Given the description of an element on the screen output the (x, y) to click on. 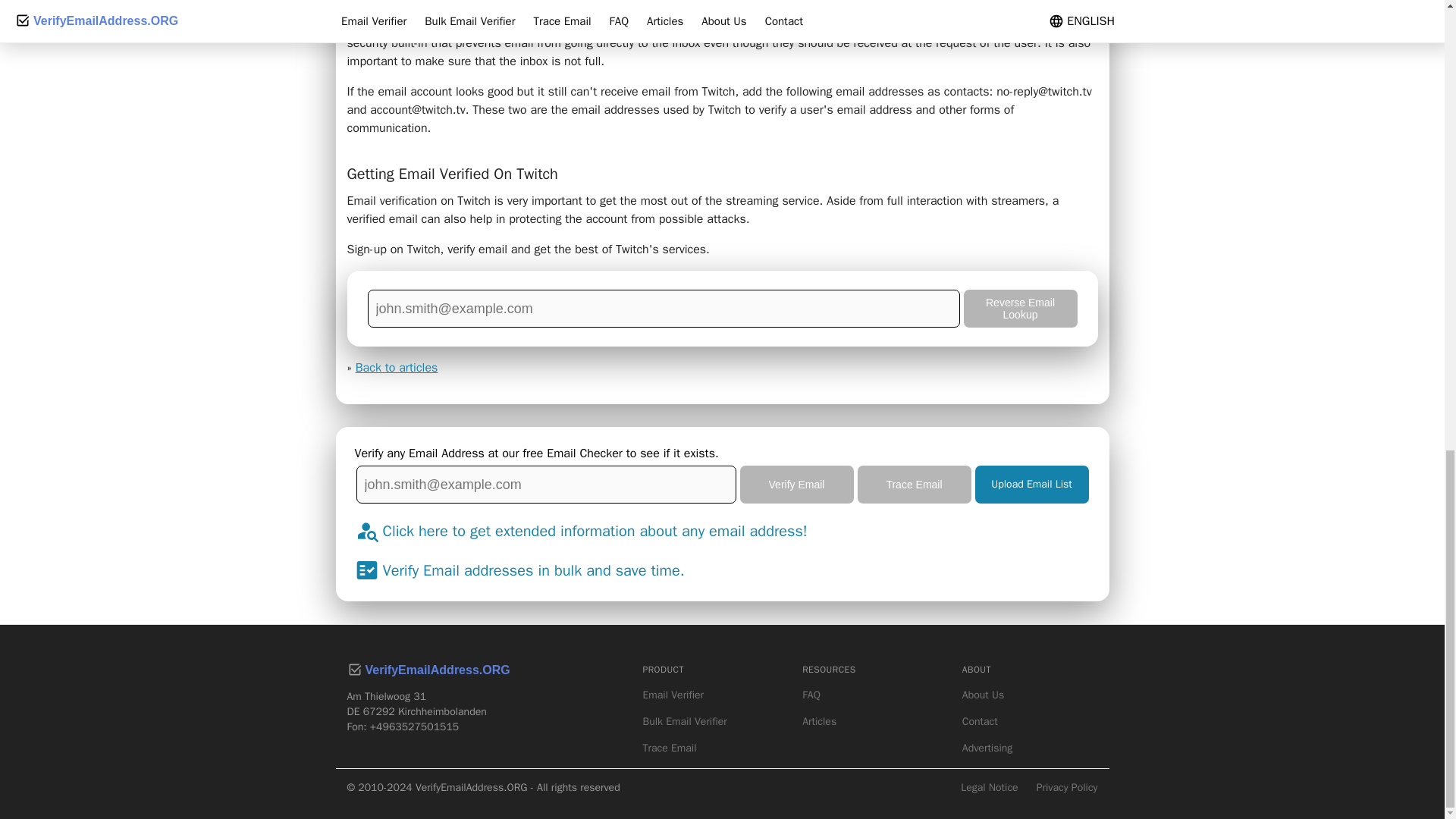
Back to articles (396, 367)
Reverse Email Lookup (1019, 308)
Legal Notice (988, 787)
VerifyEmailAddress.ORG (429, 670)
About Us (1029, 694)
Upload Email List (1032, 484)
Email Verifier (710, 694)
Bulk Email Verifier (710, 721)
Advertising (1029, 748)
Trace Email (710, 748)
